Given the description of an element on the screen output the (x, y) to click on. 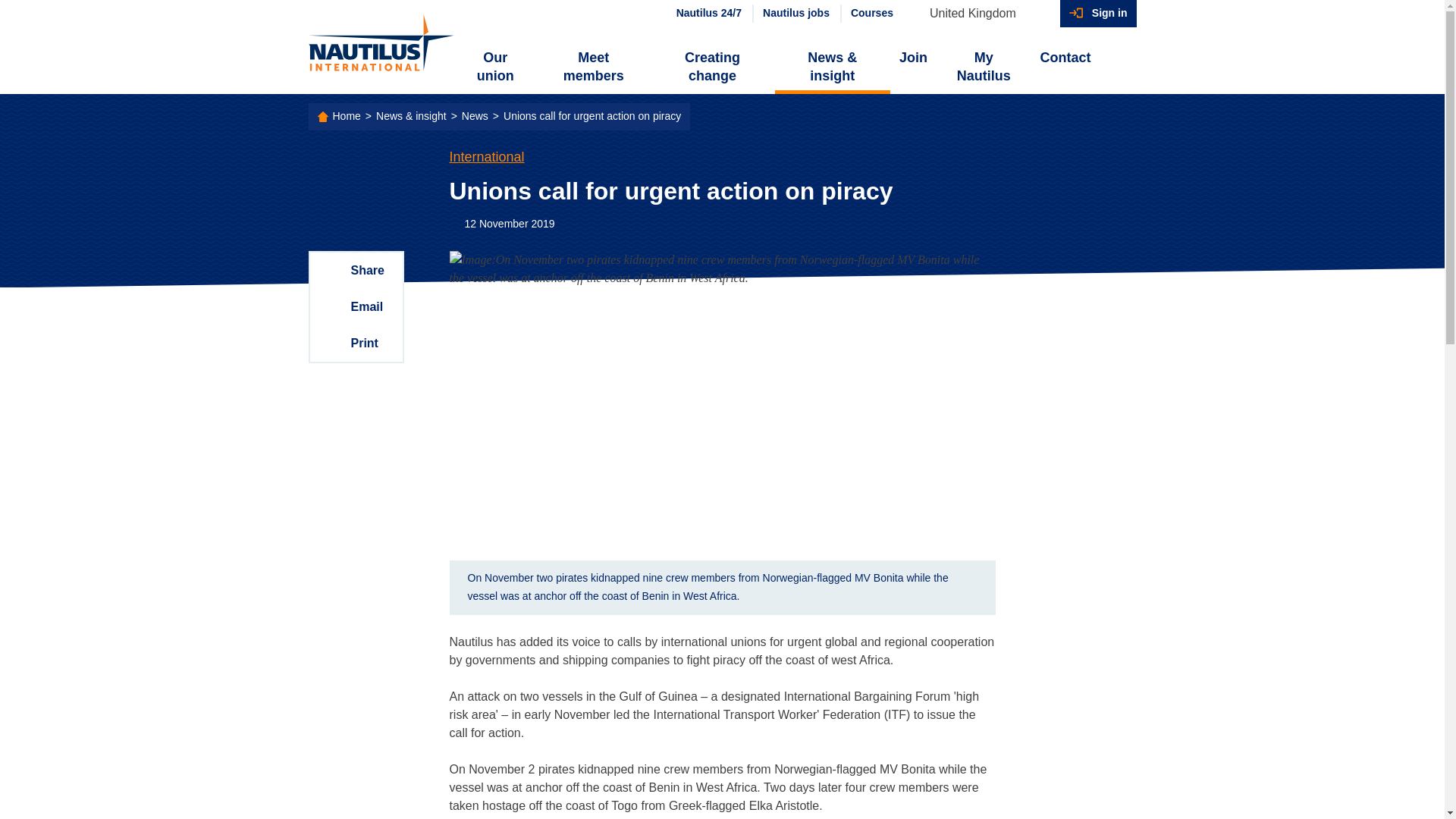
Nautilus jobs (795, 13)
Meet members (593, 67)
Our union (495, 67)
Contact (1065, 58)
Courses (871, 13)
My Nautilus (983, 67)
Sign in (1098, 13)
Join (912, 58)
United Kingdom (979, 13)
